Given the description of an element on the screen output the (x, y) to click on. 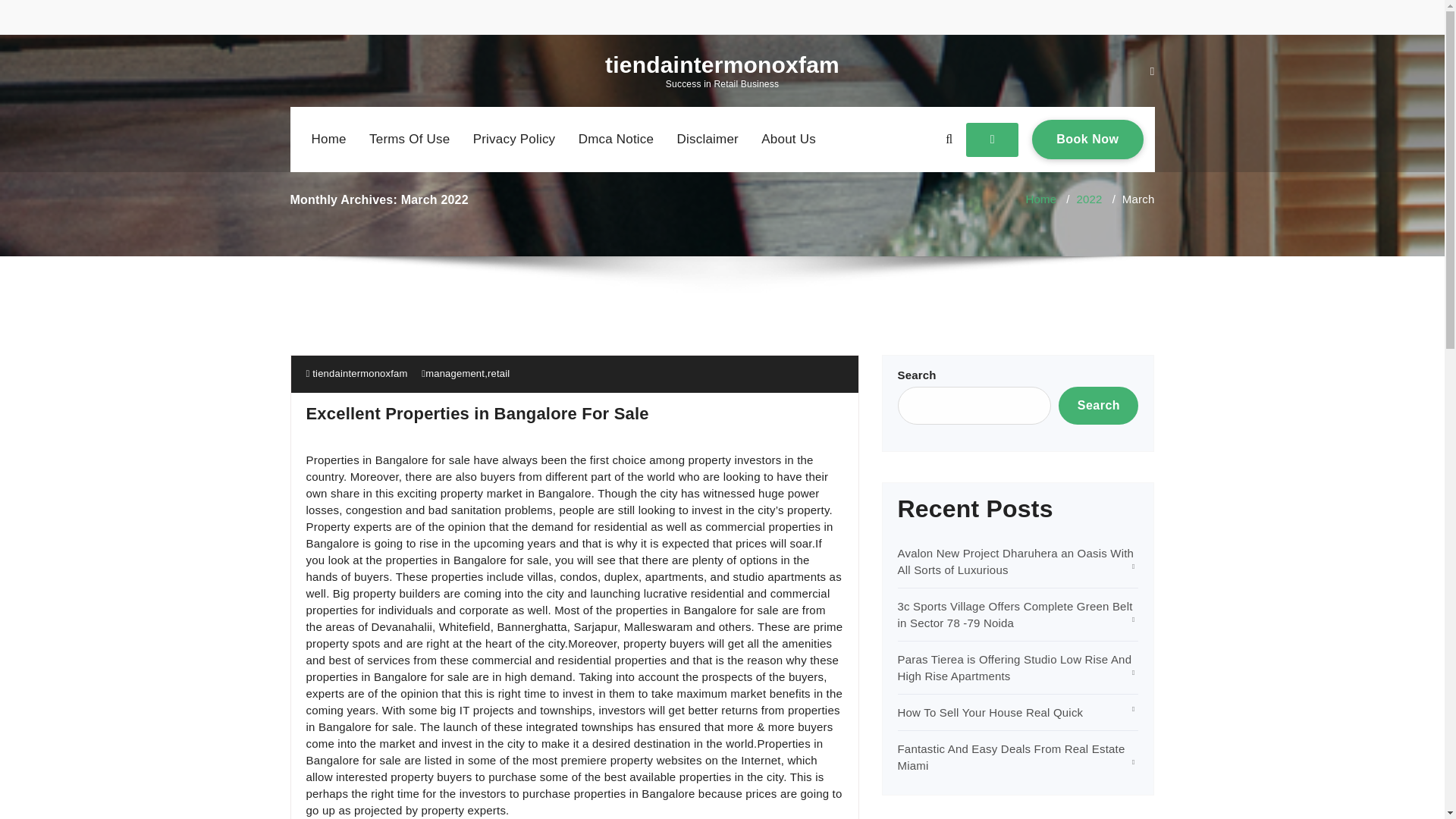
About Us (1087, 138)
How To Sell Your House Real Quick (789, 139)
Fantastic And Easy Deals From Real Estate Miami (990, 712)
Dmca Notice (1011, 756)
retail (616, 139)
2022 (498, 373)
Disclaimer (1088, 198)
Search (707, 139)
